Given the description of an element on the screen output the (x, y) to click on. 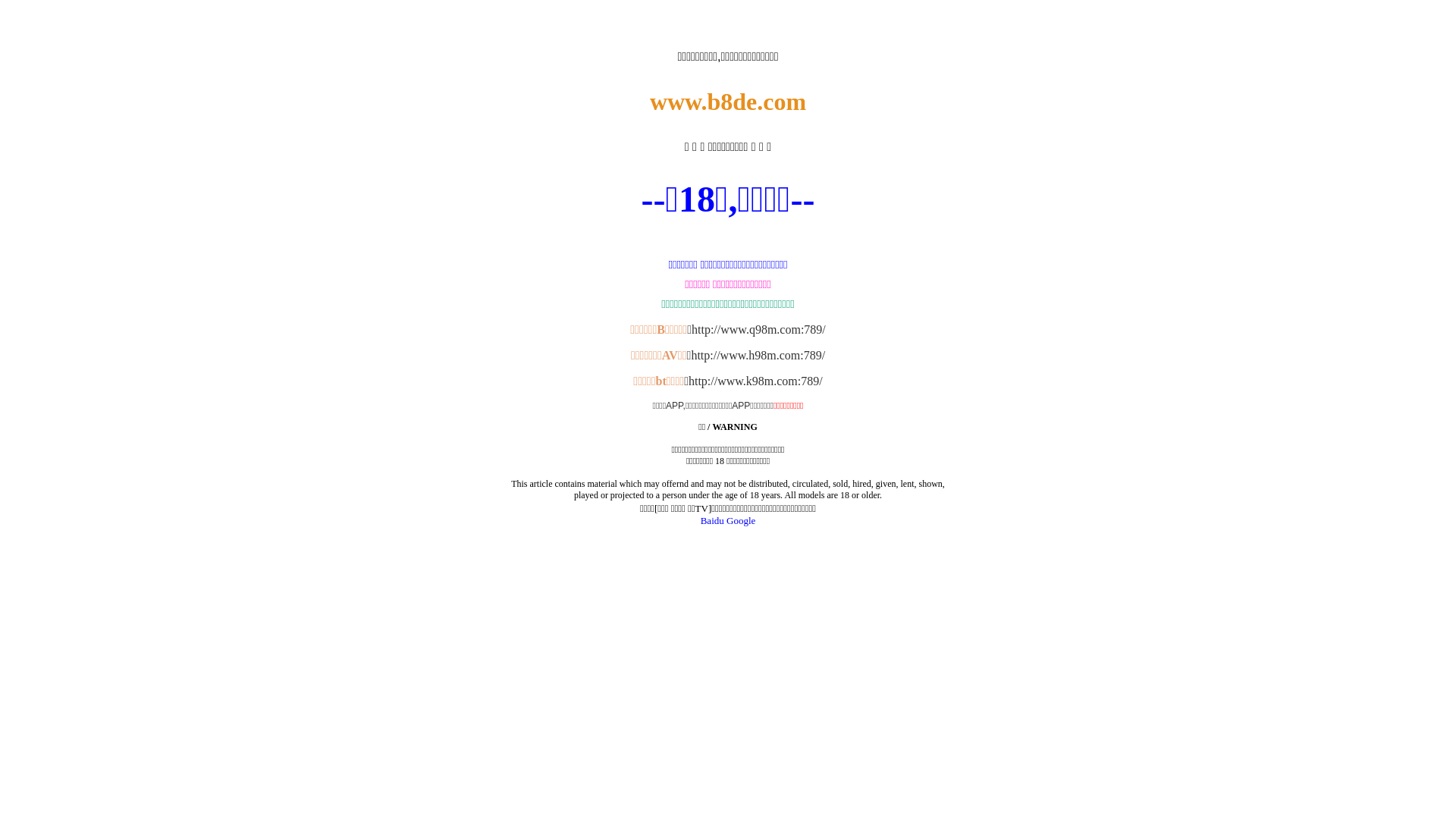
Google Element type: text (740, 520)
Baidu Element type: text (712, 520)
